Given the description of an element on the screen output the (x, y) to click on. 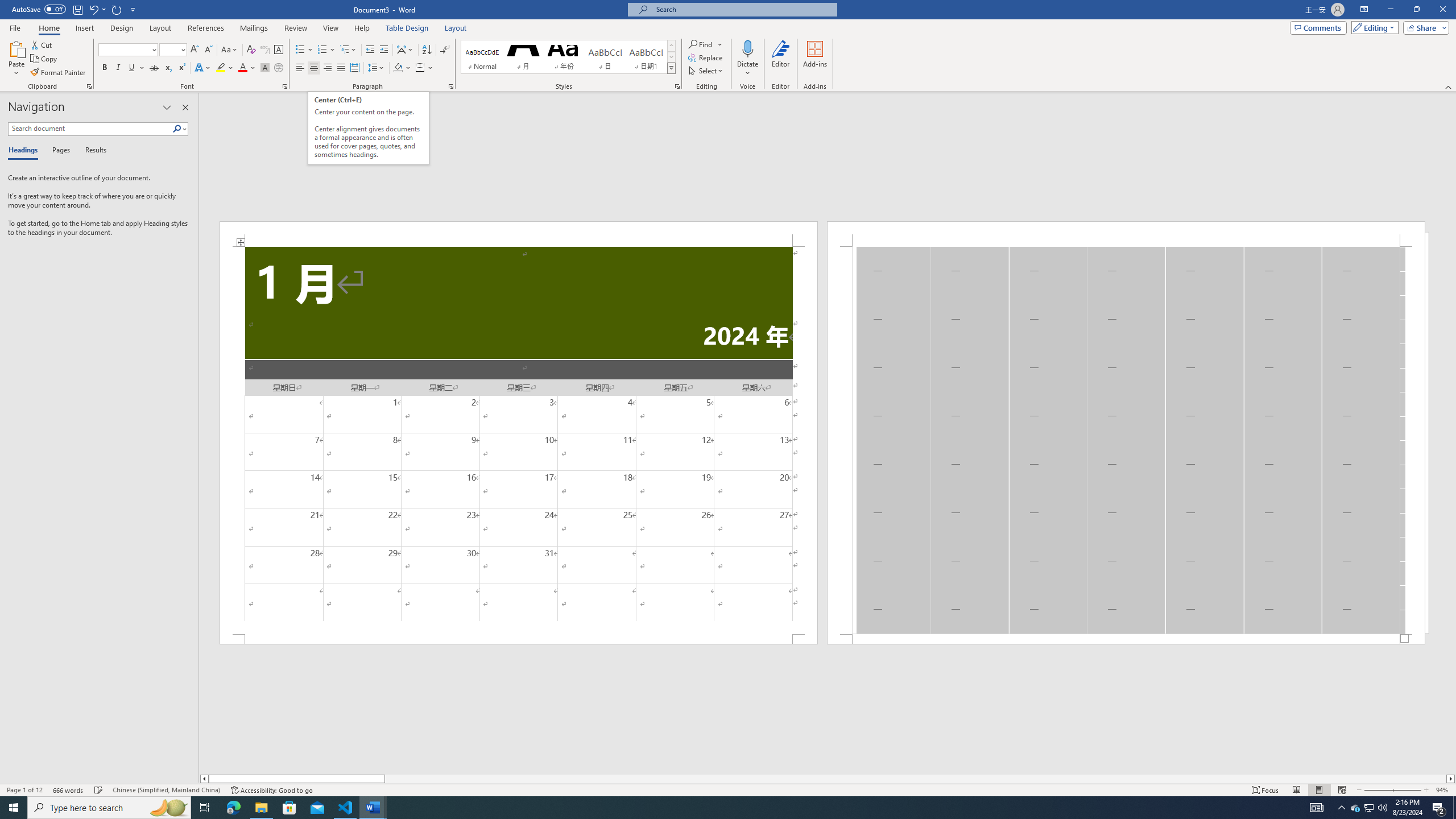
Text Effects and Typography (202, 67)
Results (91, 150)
Search document (89, 128)
Page 2 content (1126, 439)
Row up (670, 45)
Class: MsoCommandBar (728, 789)
